Given the description of an element on the screen output the (x, y) to click on. 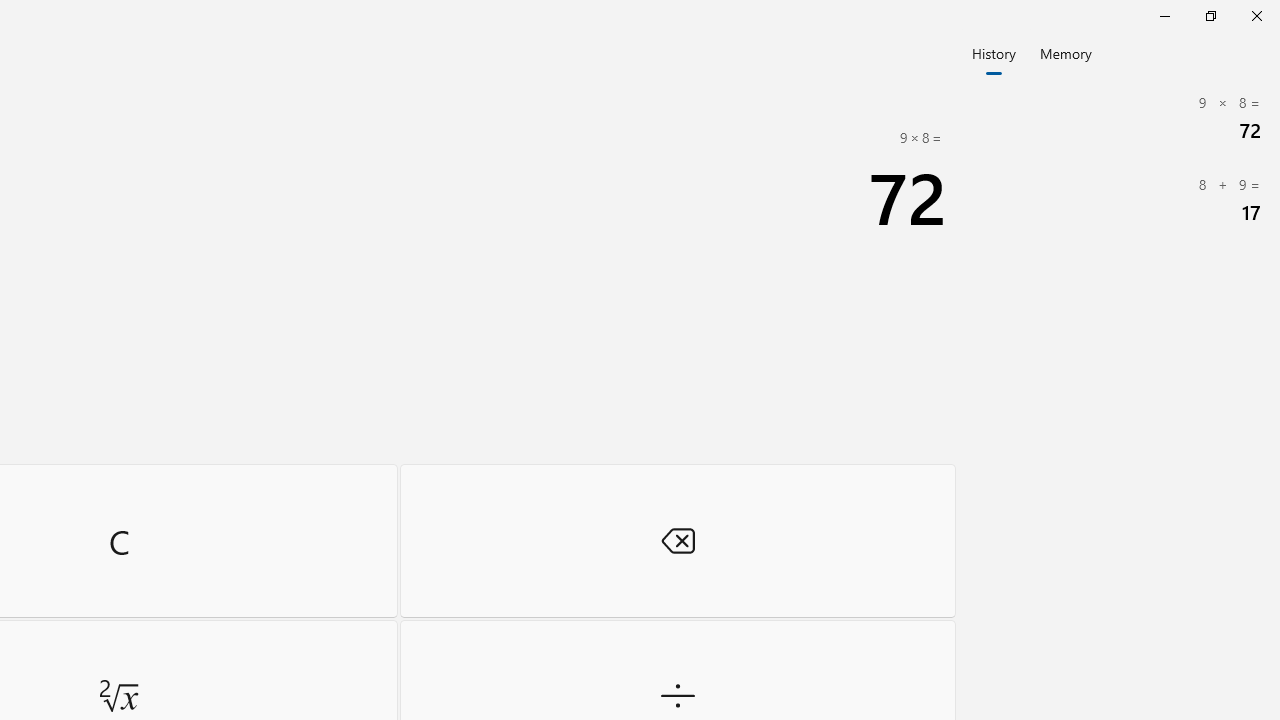
Restore Calculator (1210, 15)
Close Calculator (1256, 15)
Minimize Calculator (1164, 15)
8 + 9= 17 (1119, 200)
Backspace (677, 540)
History (993, 52)
